Given the description of an element on the screen output the (x, y) to click on. 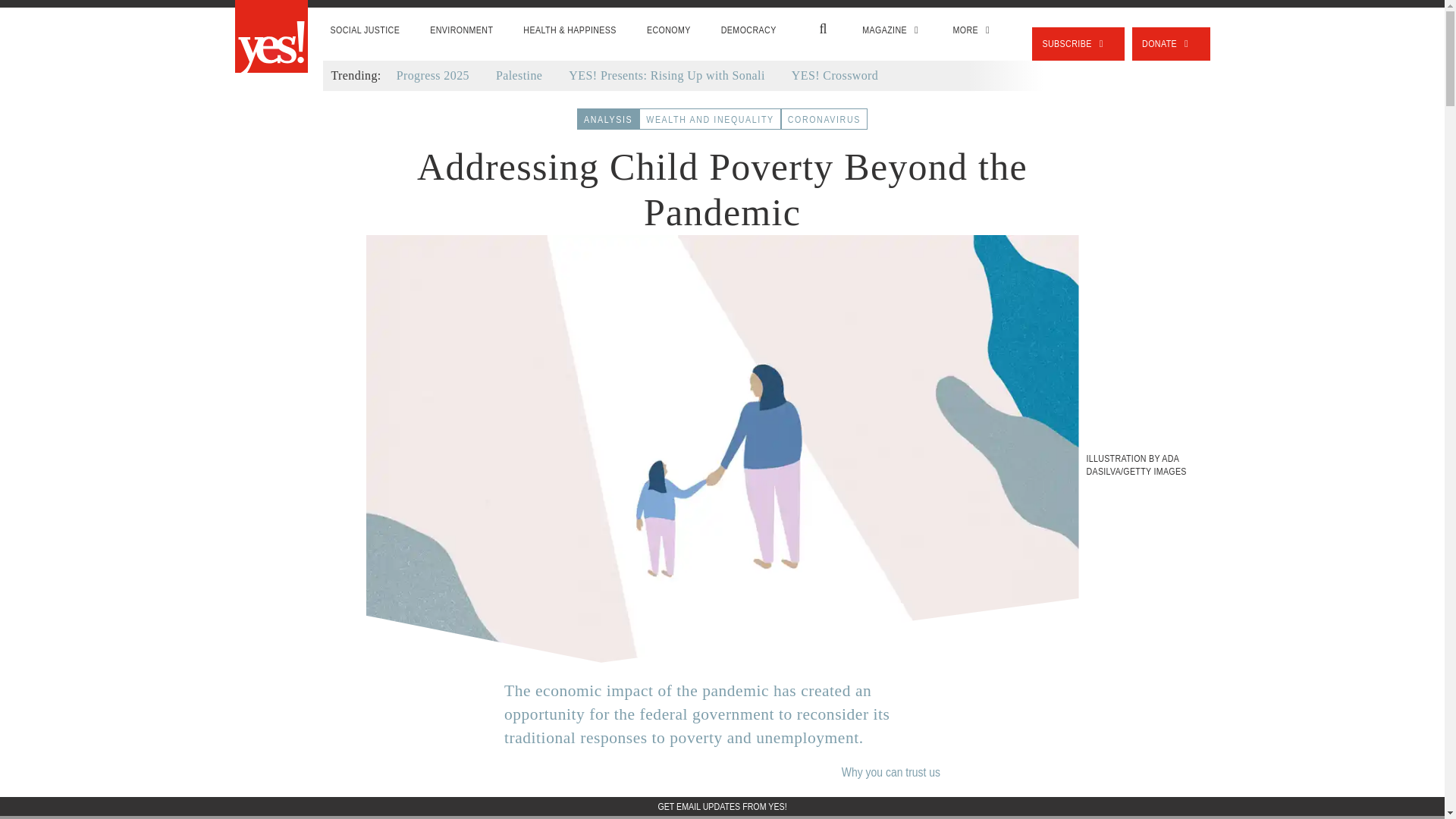
MAGAZINE (892, 30)
ENVIRONMENT (461, 30)
SOCIAL JUSTICE (364, 30)
ECONOMY (668, 30)
SUBSCRIBE (1078, 43)
MORE (973, 30)
DEMOCRACY (749, 30)
DONATE (1170, 43)
